Given the description of an element on the screen output the (x, y) to click on. 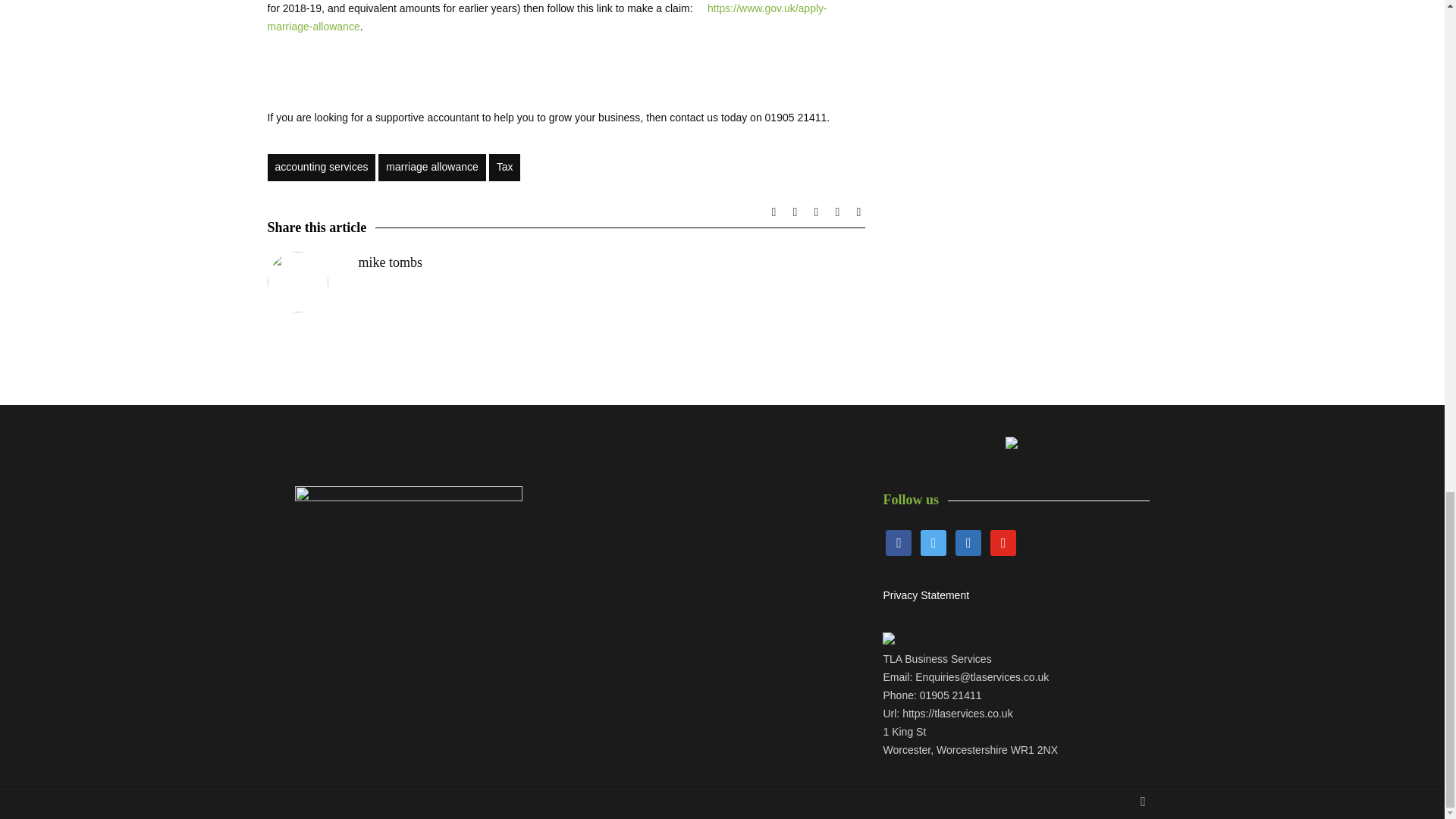
marriage allowance (431, 166)
facebook (898, 541)
Privacy Statement (925, 594)
accounting services (320, 166)
Twitter (933, 541)
UP! (1142, 801)
twitter (933, 541)
Default Label (968, 541)
Default Label (1003, 541)
youtube (1003, 541)
